Given the description of an element on the screen output the (x, y) to click on. 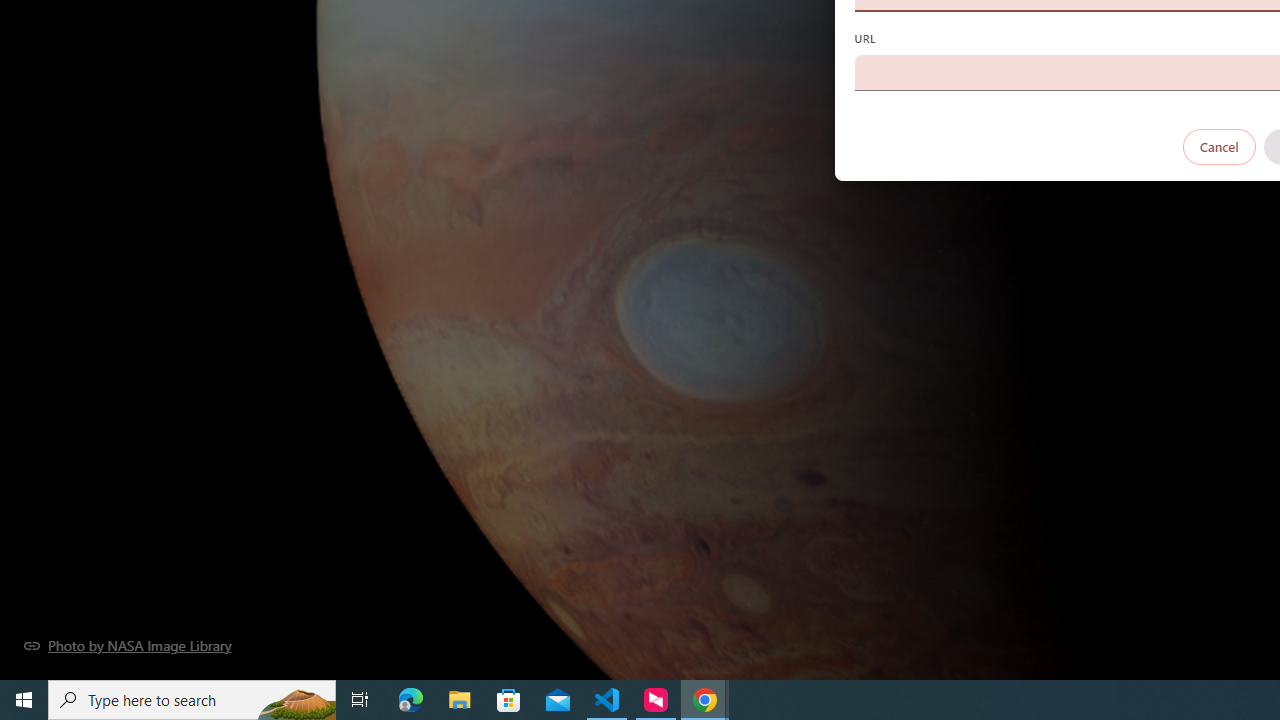
Cancel (1218, 146)
